Given the description of an element on the screen output the (x, y) to click on. 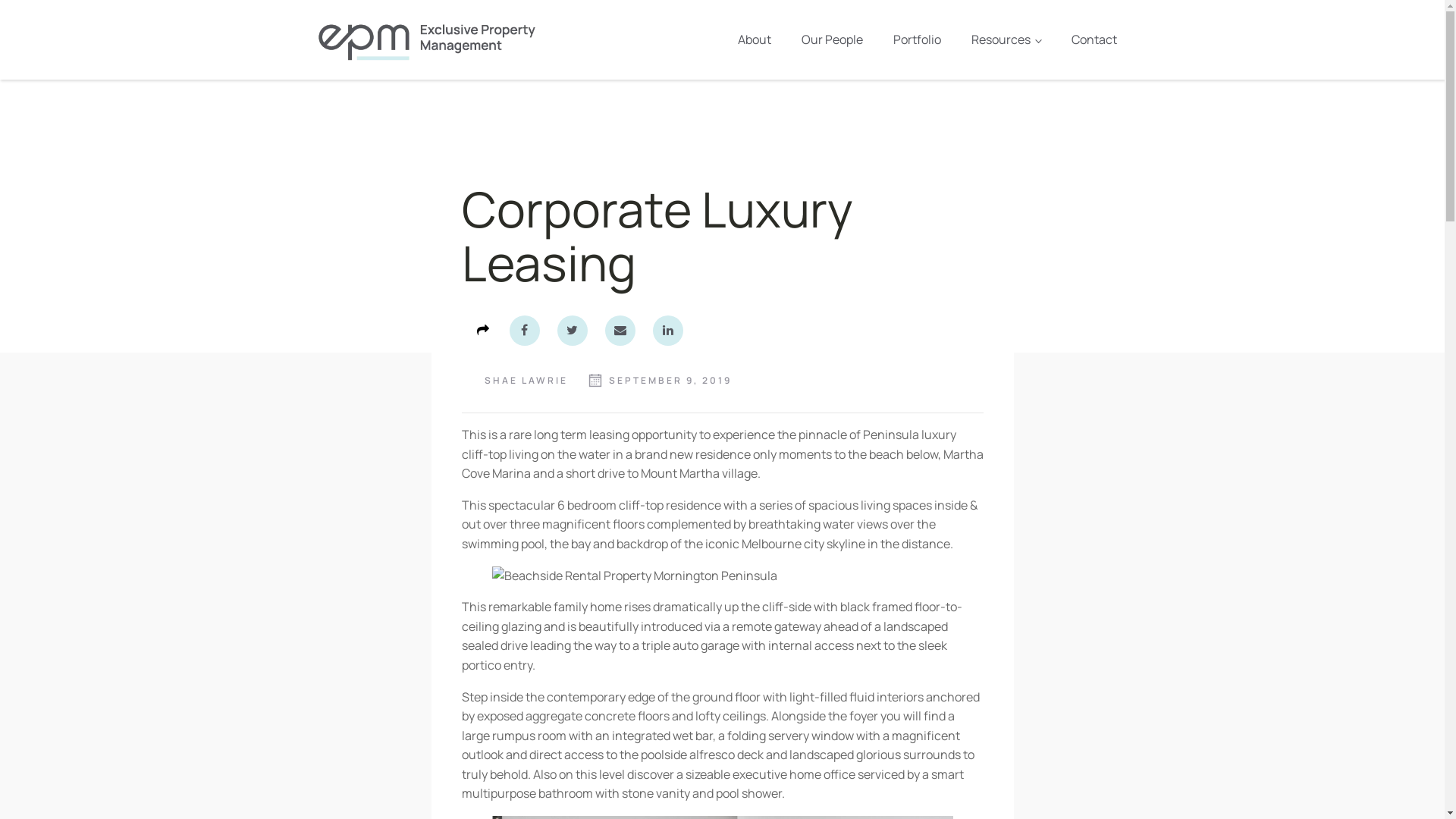
Contact Element type: text (1093, 40)
Share on Facebook Element type: hover (523, 329)
About Element type: text (754, 40)
Email Element type: hover (620, 329)
Our People Element type: text (832, 40)
Portfolio Element type: text (917, 40)
Resources Element type: text (1006, 40)
Share on LinkedIn Element type: hover (667, 329)
